Given the description of an element on the screen output the (x, y) to click on. 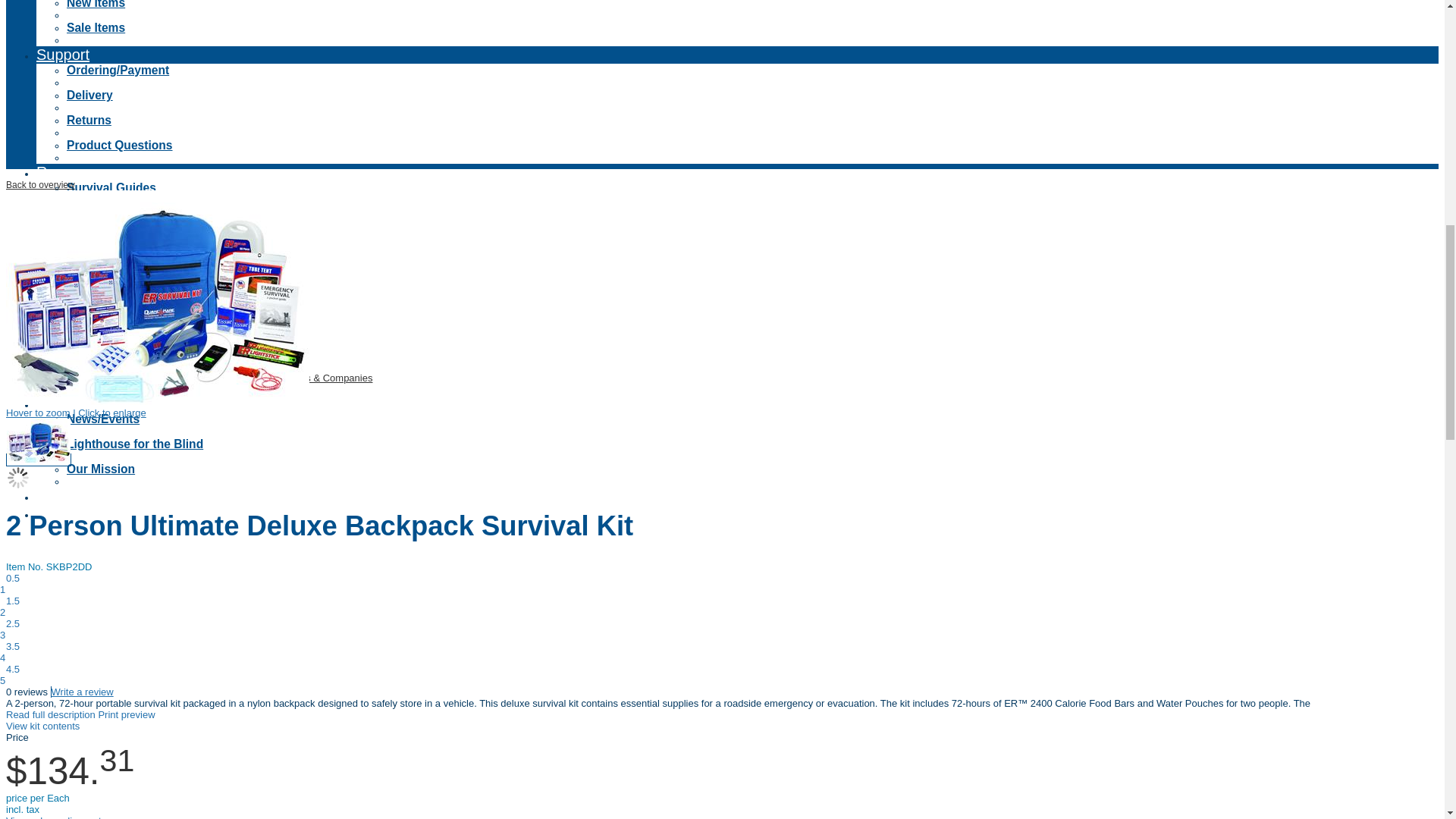
3.5 (12, 645)
Write a review (81, 691)
1.5 (12, 600)
0.5 (12, 577)
Print preview (125, 714)
2.5 (12, 623)
4.5 (12, 668)
